Given the description of an element on the screen output the (x, y) to click on. 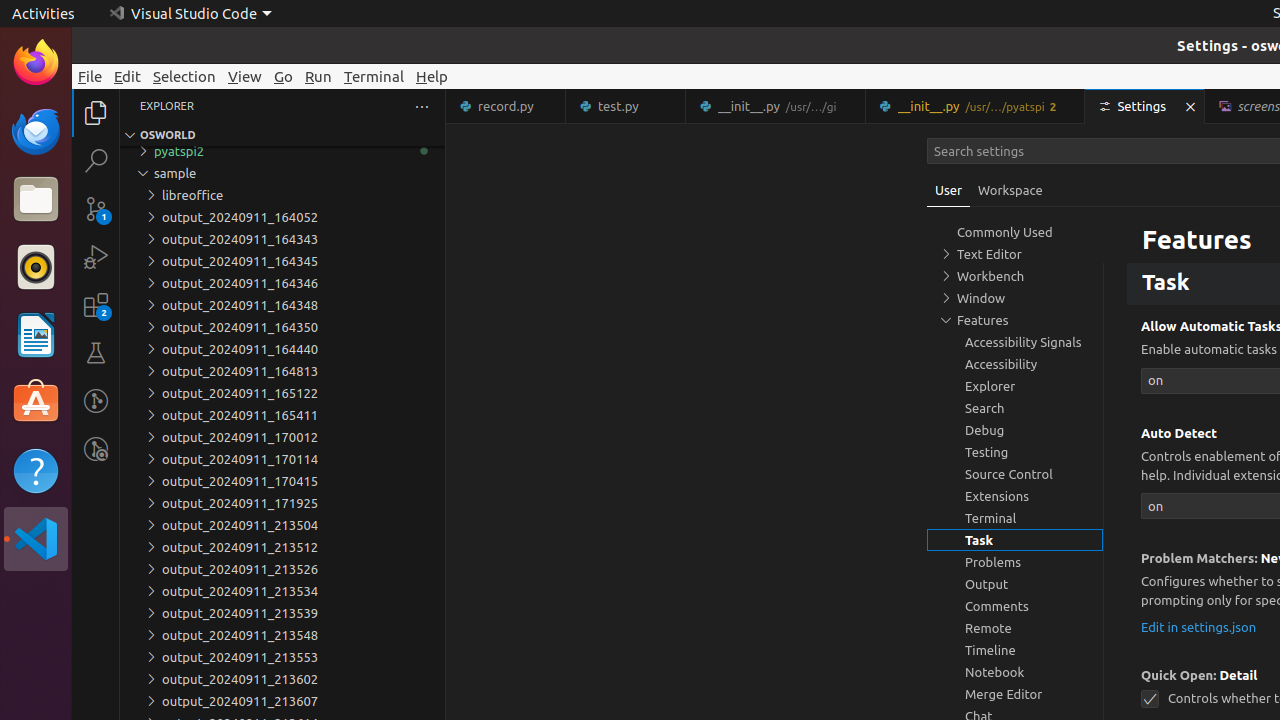
output_20240911_213534 Element type: tree-item (282, 591)
sample Element type: tree-item (282, 173)
output_20240911_165122 Element type: tree-item (282, 393)
Comments, group Element type: tree-item (1015, 606)
output_20240911_170012 Element type: tree-item (282, 437)
